Given the description of an element on the screen output the (x, y) to click on. 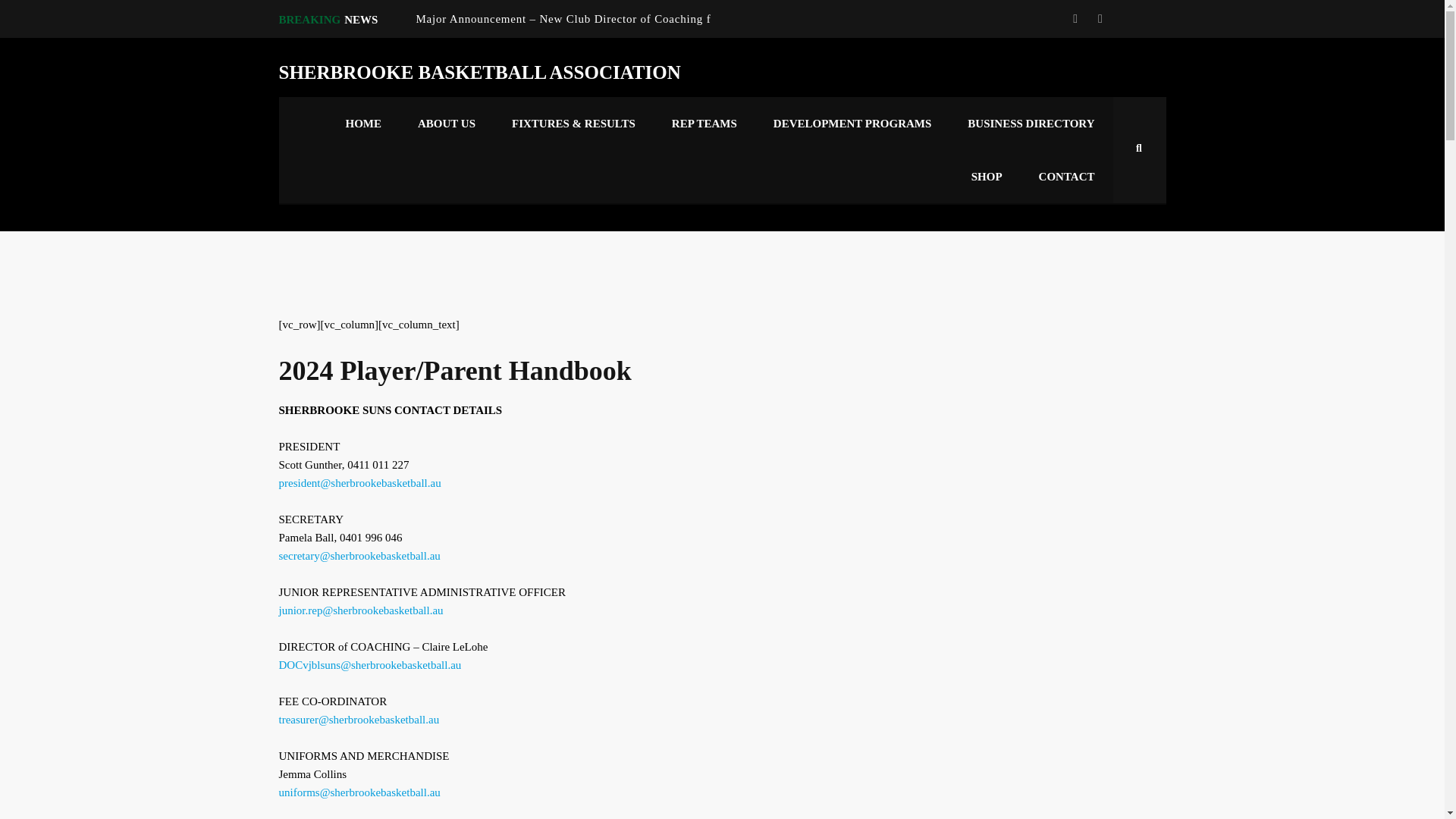
DEVELOPMENT PROGRAMS (852, 123)
SHERBROOKE BASKETBALL ASSOCIATION (480, 72)
HOME (363, 123)
CONTACT (1066, 176)
Home (480, 72)
ABOUT US (445, 123)
REP TEAMS (704, 123)
SHOP (986, 176)
BUSINESS DIRECTORY (1030, 123)
